Given the description of an element on the screen output the (x, y) to click on. 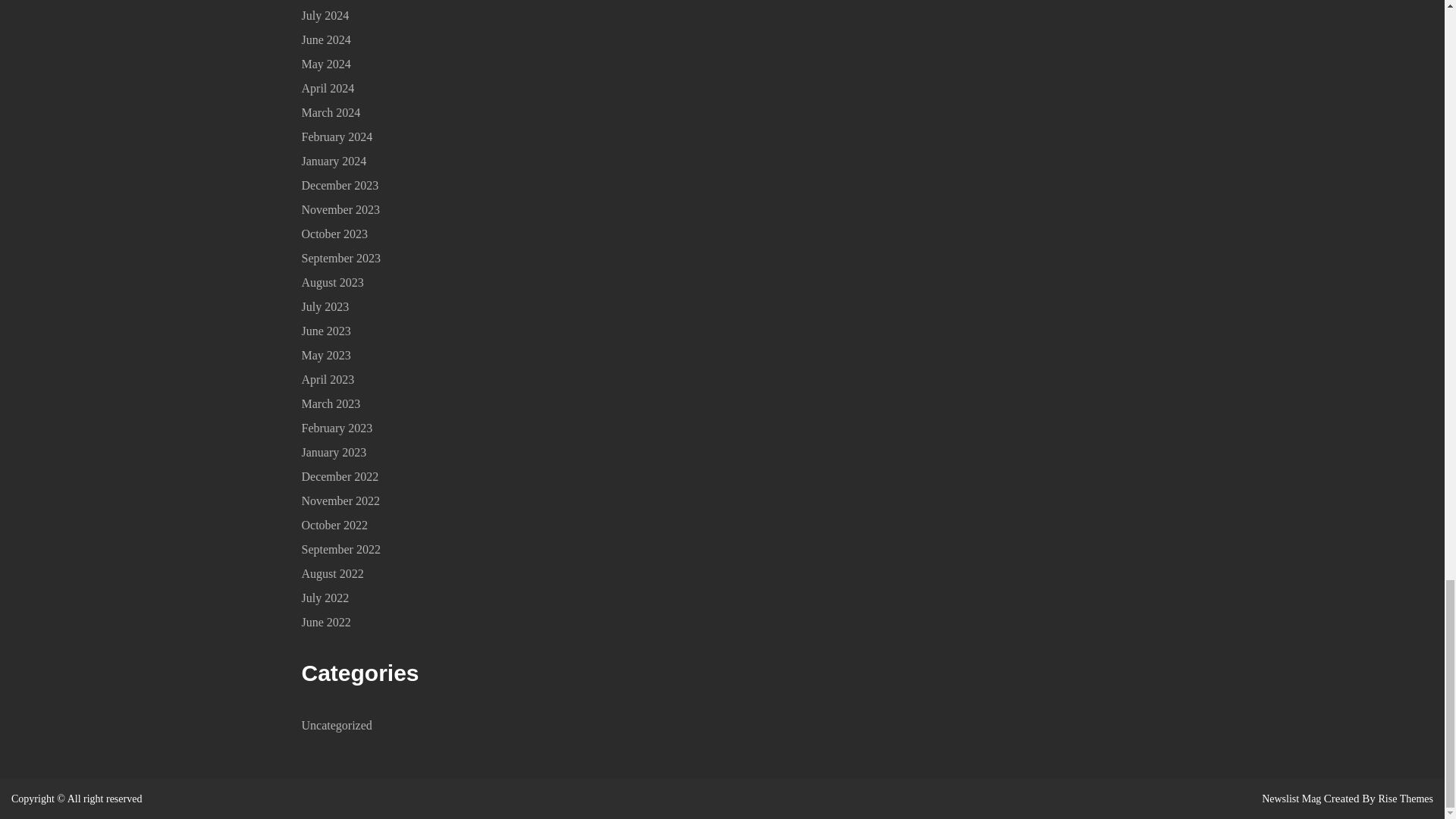
July 2024 (325, 15)
